Given the description of an element on the screen output the (x, y) to click on. 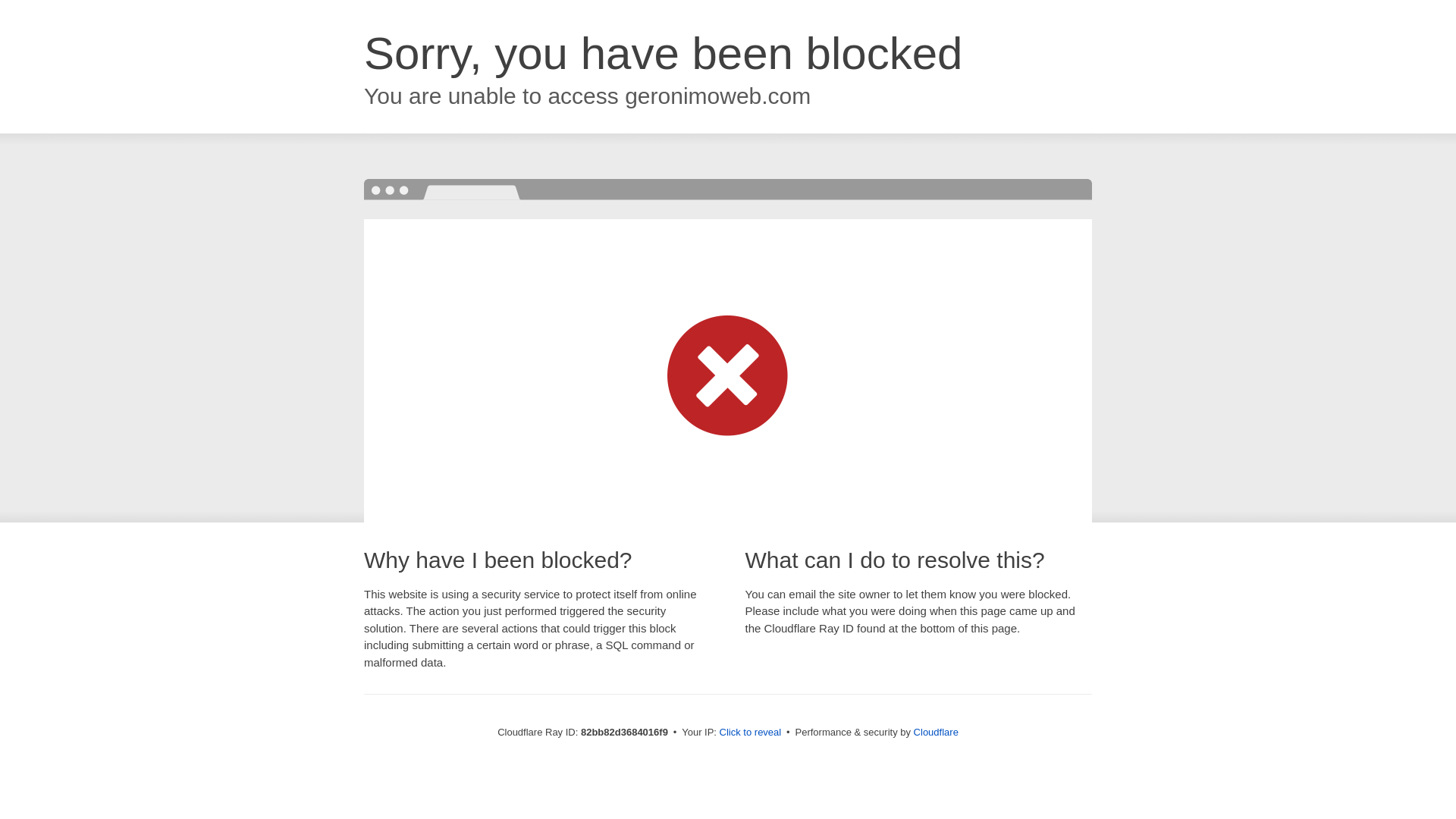
Click to reveal Element type: text (750, 732)
Cloudflare Element type: text (935, 731)
